Given the description of an element on the screen output the (x, y) to click on. 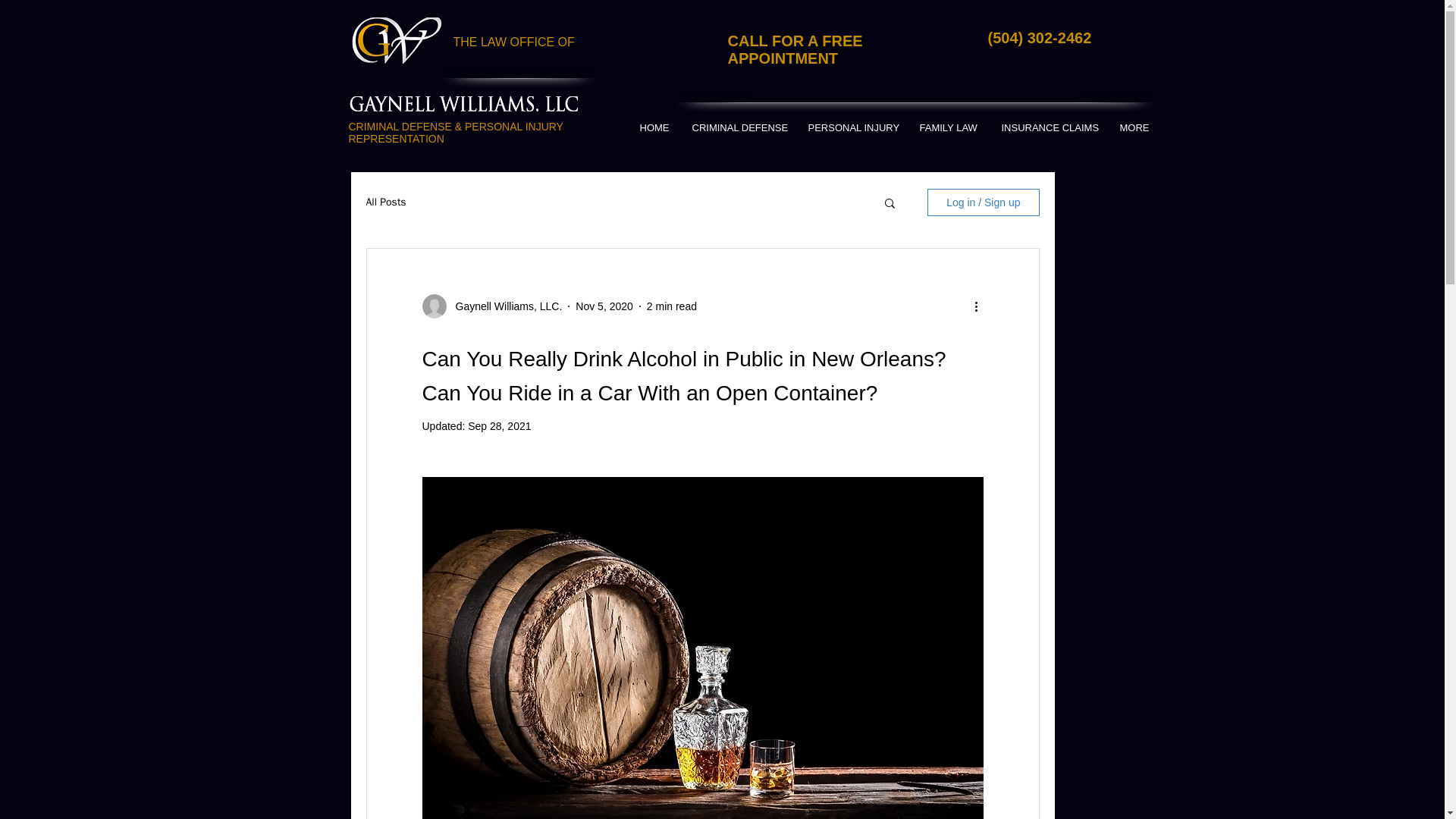
CRIMINAL DEFENSE (738, 128)
INSURANCE CLAIMS (1049, 128)
Nov 5, 2020 (604, 306)
Gaynell Williams, LLC. (503, 306)
2 min read (671, 306)
PERSONAL INJURY (851, 128)
All Posts (385, 202)
Sep 28, 2021 (499, 426)
FAMILY LAW (949, 128)
HOME (653, 128)
